Given the description of an element on the screen output the (x, y) to click on. 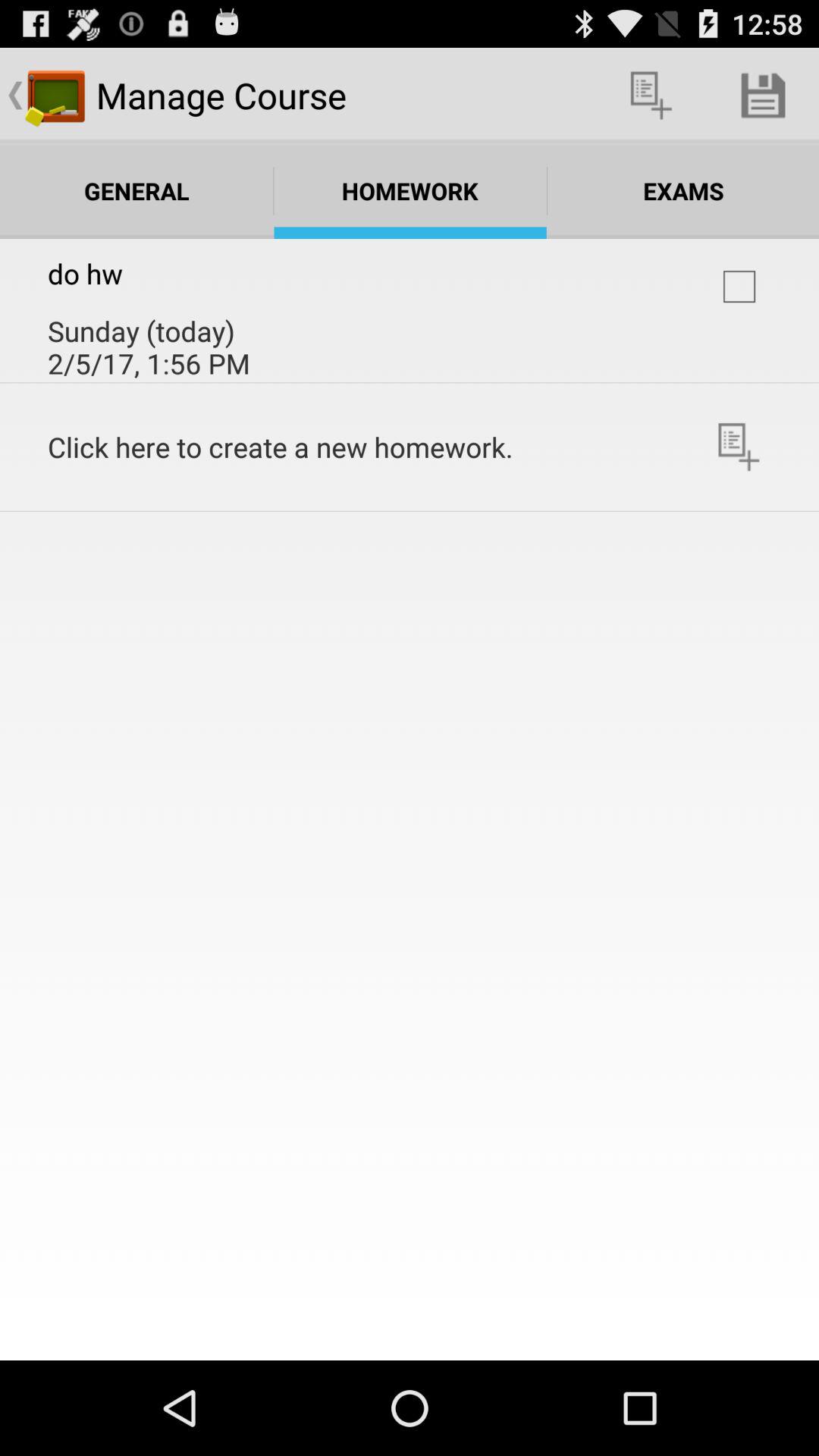
select course (739, 286)
